Given the description of an element on the screen output the (x, y) to click on. 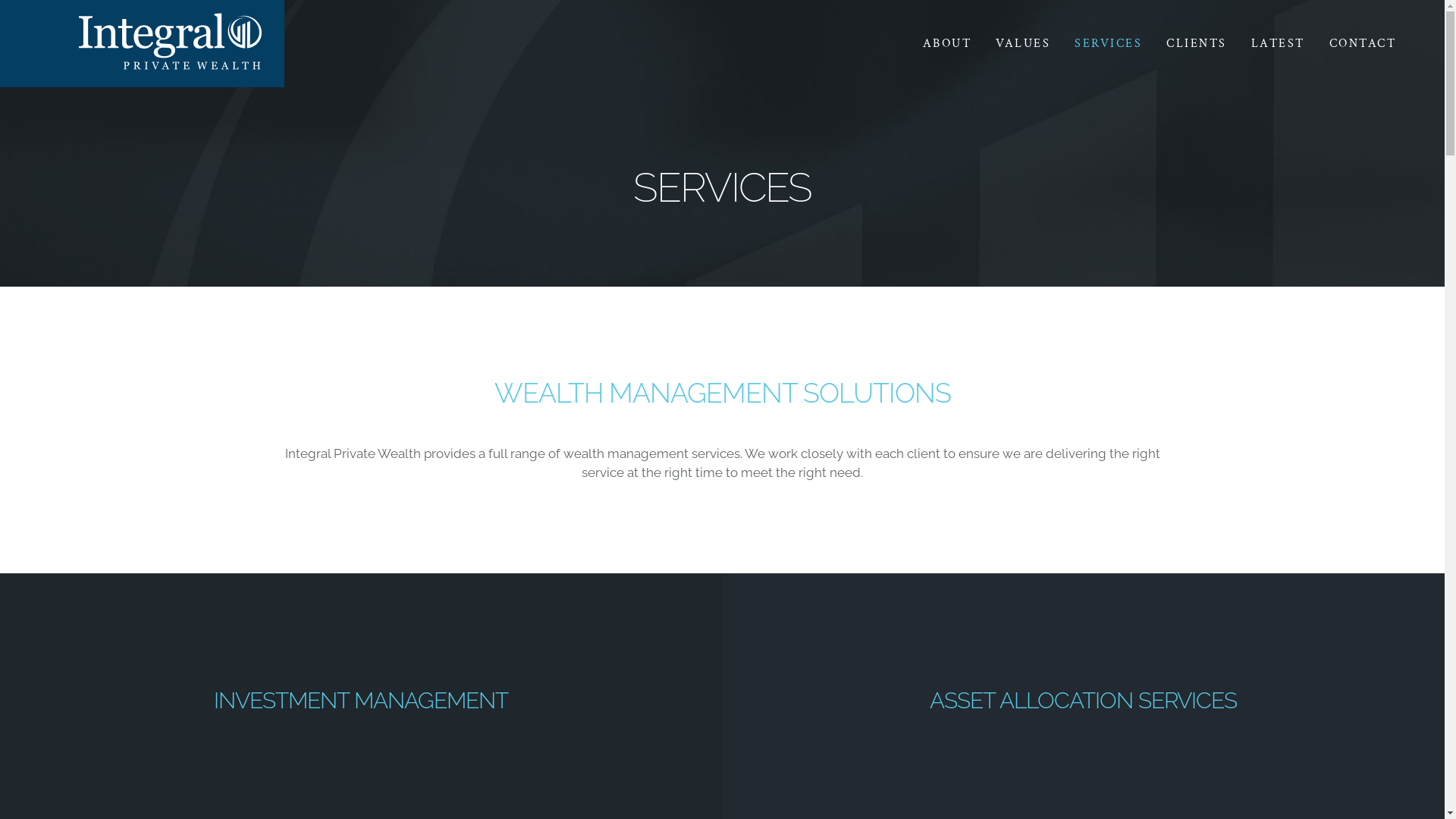
SERVICES Element type: text (997, 541)
CONTACT Element type: text (1350, 43)
COPYRIGHT Element type: text (1140, 566)
TERMS & CONDITIONS Element type: text (1118, 554)
OneNine Element type: text (1150, 760)
PRIVACY DISCLAIMER Element type: text (1119, 541)
ABOUT Element type: text (934, 43)
CONTACT Element type: text (997, 566)
SERVICES Element type: text (1096, 43)
VALUES Element type: text (1010, 43)
LATEST Element type: text (1265, 43)
CLIENTS Element type: text (1184, 43)
LATEST NEWS Element type: text (987, 554)
CODE OF ETHICS Element type: text (1129, 529)
COMPANY Element type: text (995, 529)
